Given the description of an element on the screen output the (x, y) to click on. 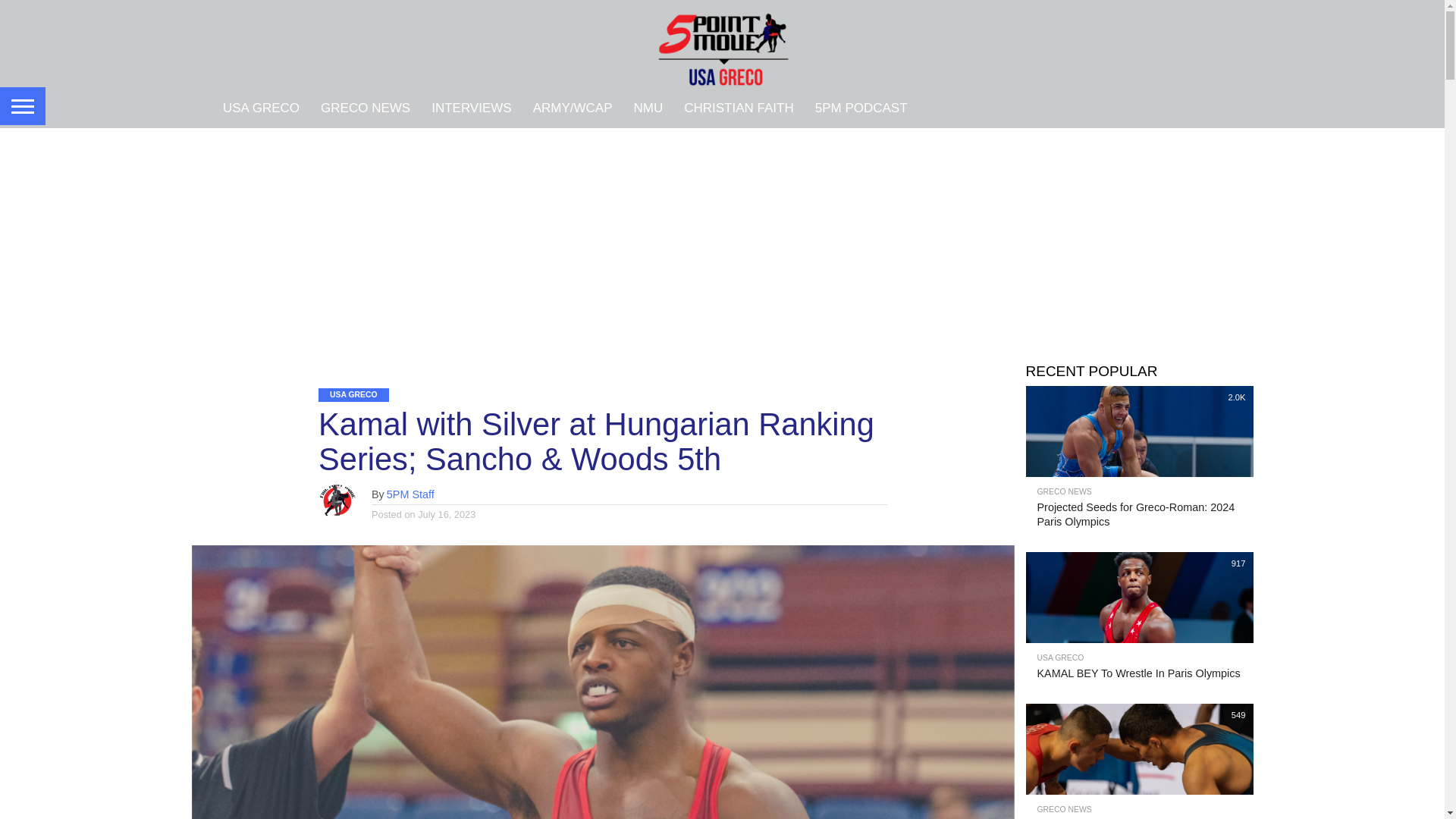
GRECO NEWS (365, 106)
CHRISTIAN FAITH (738, 106)
5PM Staff (410, 494)
5PM PODCAST (861, 106)
Posts by 5PM Staff (410, 494)
INTERVIEWS (470, 106)
NMU (647, 106)
USA GRECO (261, 106)
